Given the description of an element on the screen output the (x, y) to click on. 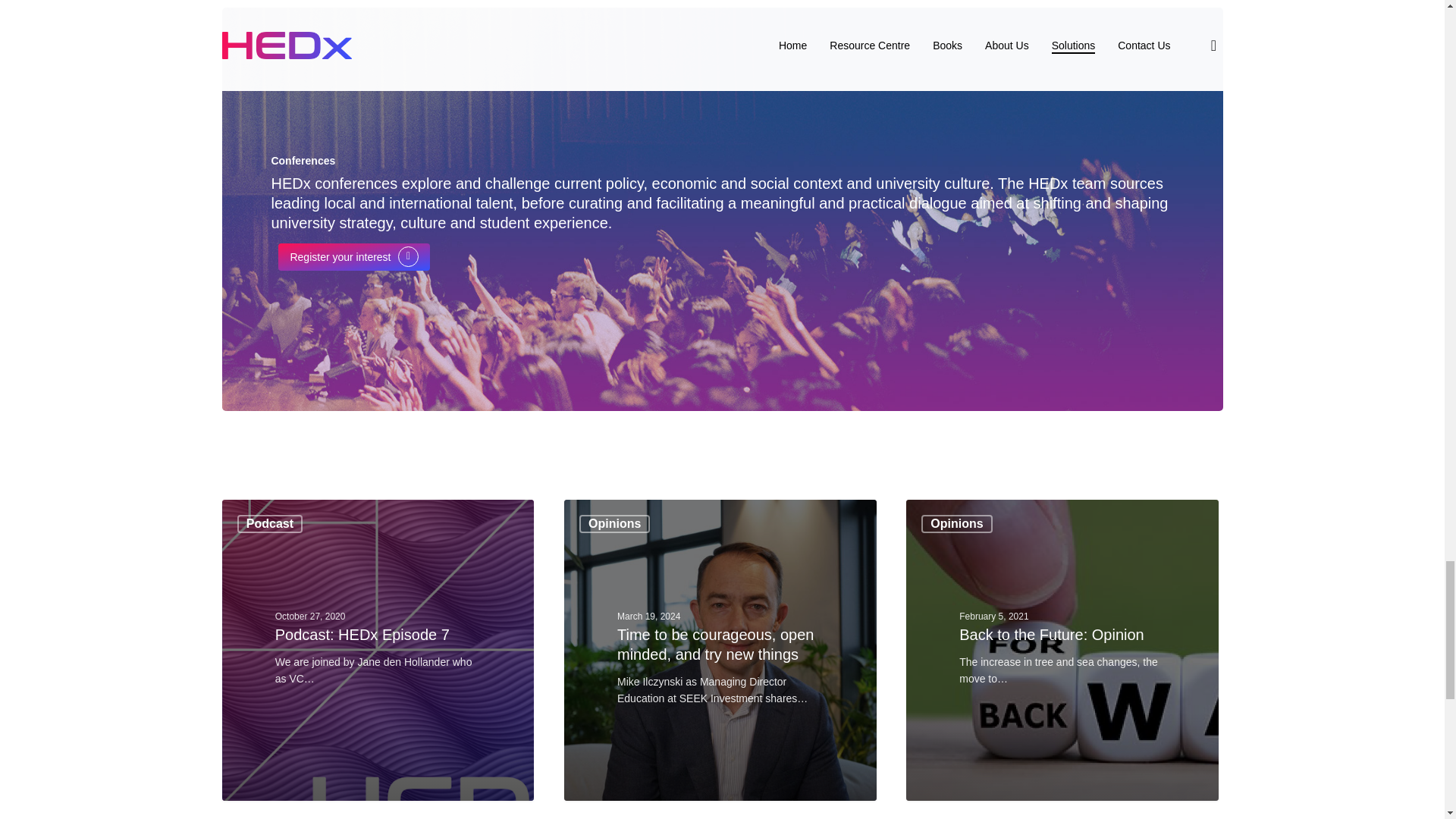
Podcast (269, 524)
Opinions (614, 524)
Opinions (956, 524)
Register your interest (353, 256)
